Given the description of an element on the screen output the (x, y) to click on. 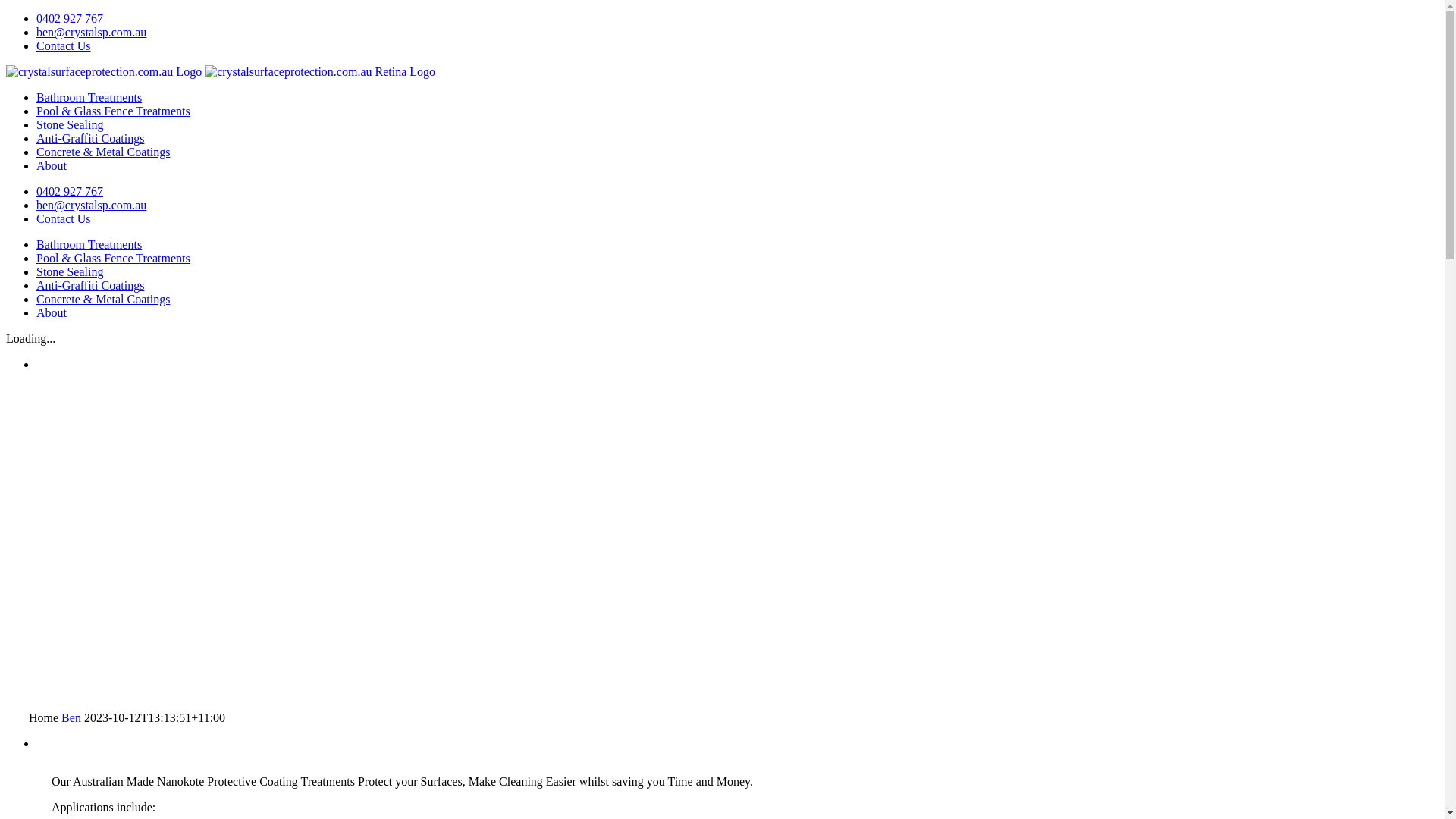
Concrete & Metal Coatings Element type: text (102, 298)
Bathroom Treatments Element type: text (88, 244)
Anti-Graffiti Coatings Element type: text (90, 285)
0402 927 767 Element type: text (69, 191)
Anti-Graffiti Coatings Element type: text (90, 137)
Contact Us Element type: text (63, 45)
Contact Us Element type: text (63, 218)
0402 927 767 Element type: text (69, 18)
About Element type: text (51, 312)
Pool & Glass Fence Treatments Element type: text (113, 110)
ben@crystalsp.com.au Element type: text (91, 31)
Stone Sealing Element type: text (69, 271)
ben@crystalsp.com.au Element type: text (91, 204)
Pool & Glass Fence Treatments Element type: text (113, 257)
Stone Sealing Element type: text (69, 124)
Ben Element type: text (71, 717)
About Element type: text (51, 165)
Concrete & Metal Coatings Element type: text (102, 151)
Bathroom Treatments Element type: text (88, 97)
